Given the description of an element on the screen output the (x, y) to click on. 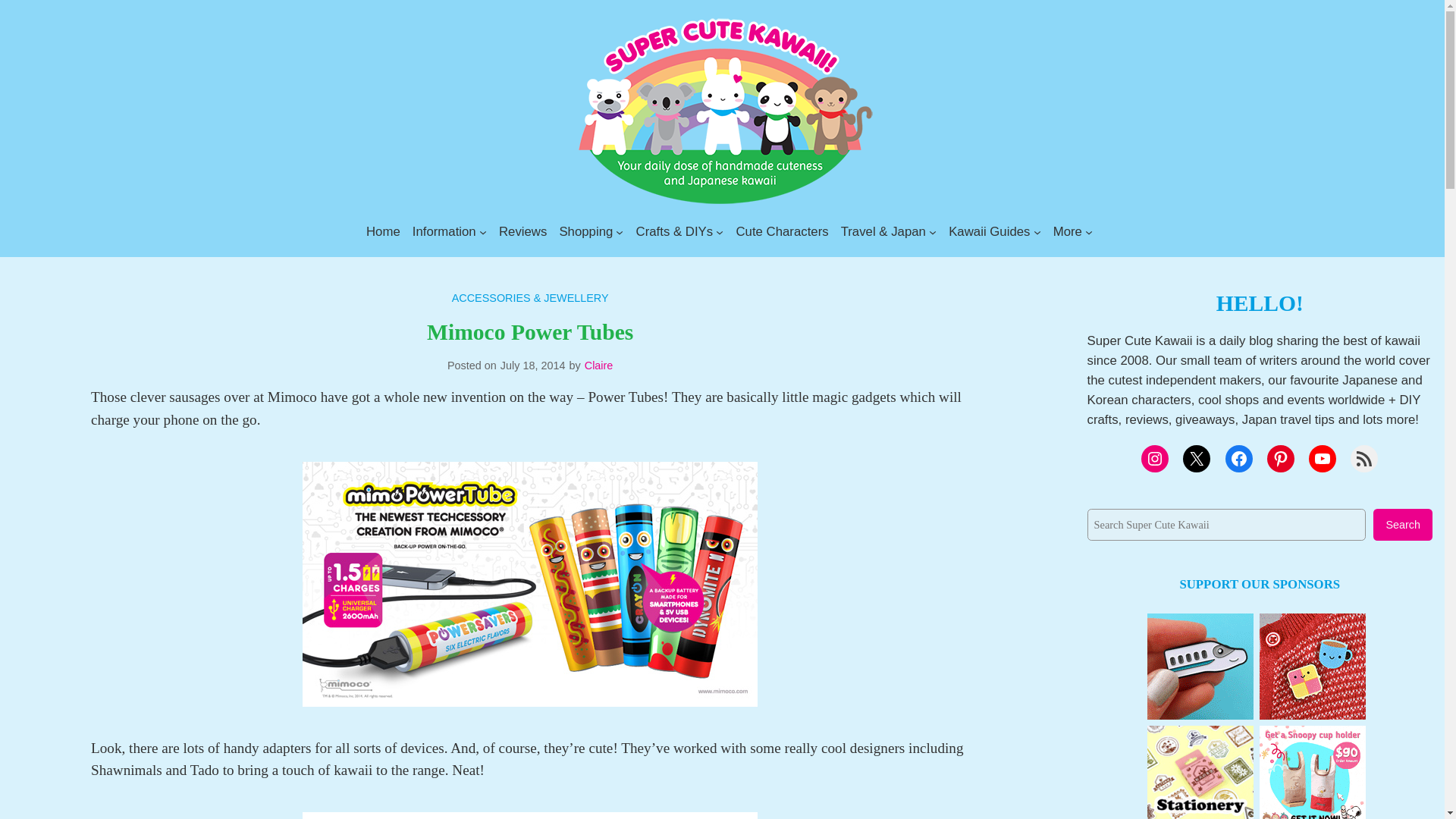
Reviews (523, 231)
Information (444, 231)
Shopping (585, 231)
Home (383, 231)
